Given the description of an element on the screen output the (x, y) to click on. 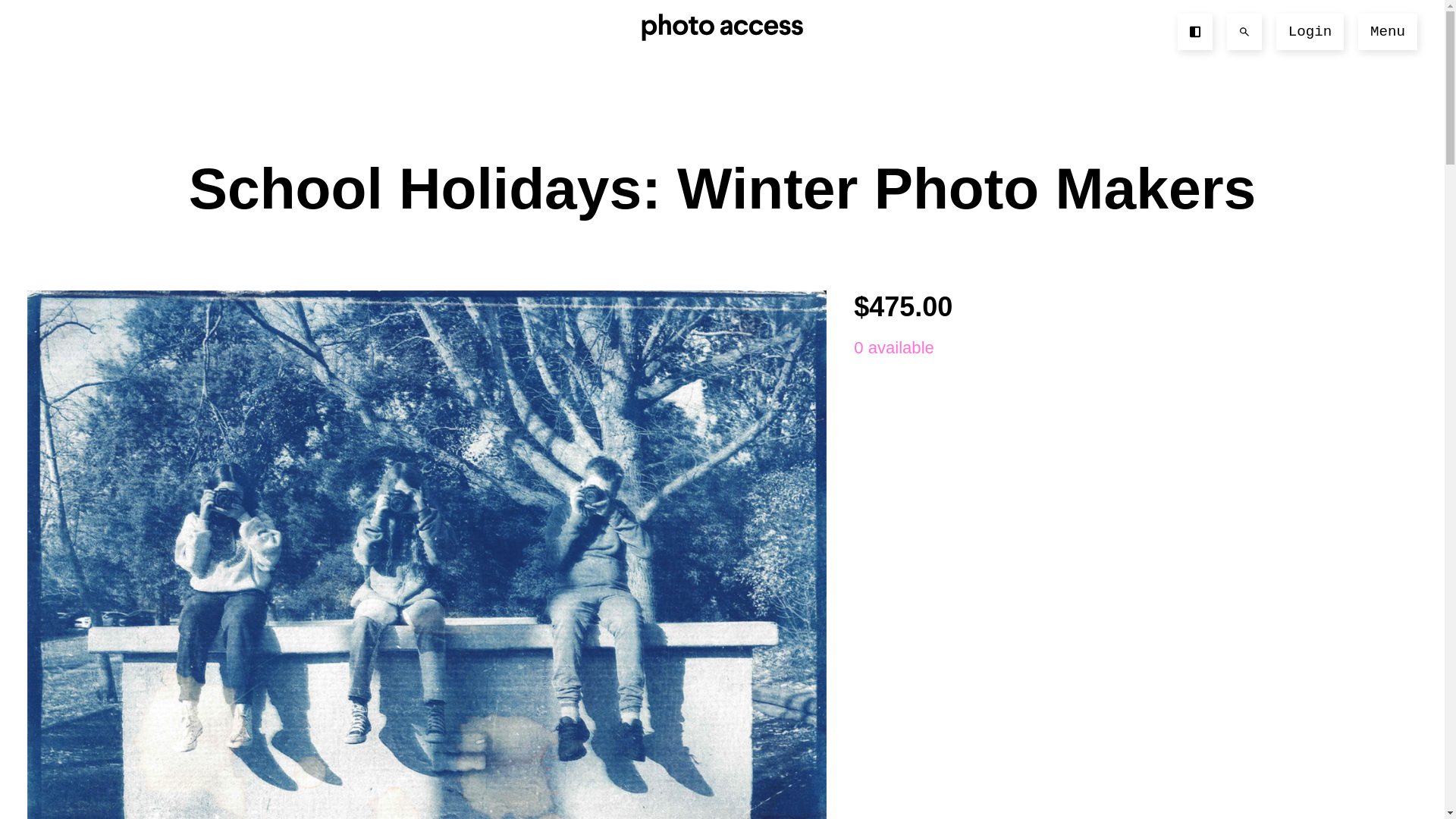
Login (1309, 31)
Menu (1387, 31)
